Given the description of an element on the screen output the (x, y) to click on. 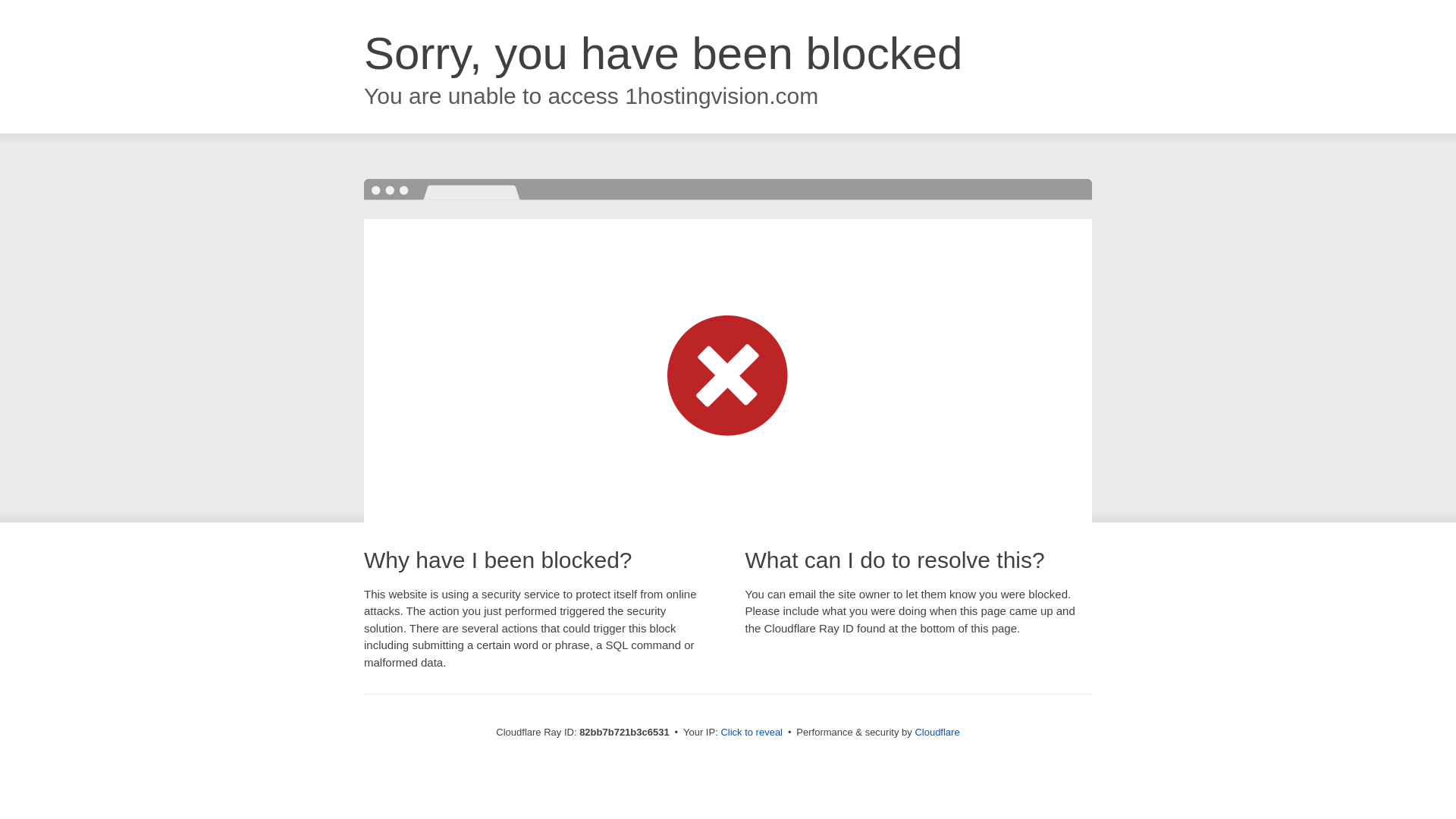
Click to reveal Element type: text (751, 732)
Cloudflare Element type: text (936, 731)
